Given the description of an element on the screen output the (x, y) to click on. 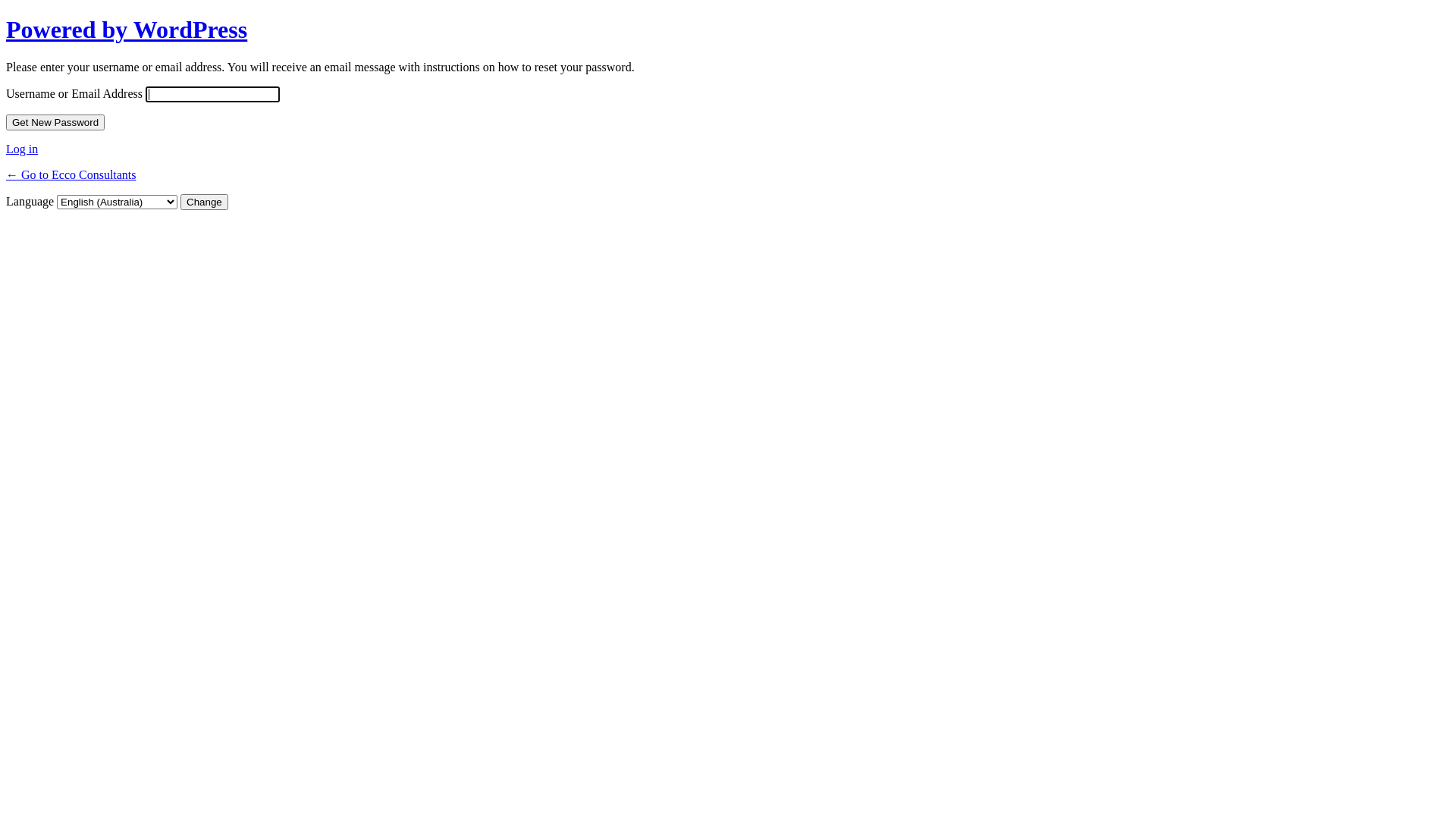
Get New Password Element type: text (55, 122)
Log in Element type: text (21, 148)
Change Element type: text (204, 202)
Powered by WordPress Element type: text (126, 29)
